Given the description of an element on the screen output the (x, y) to click on. 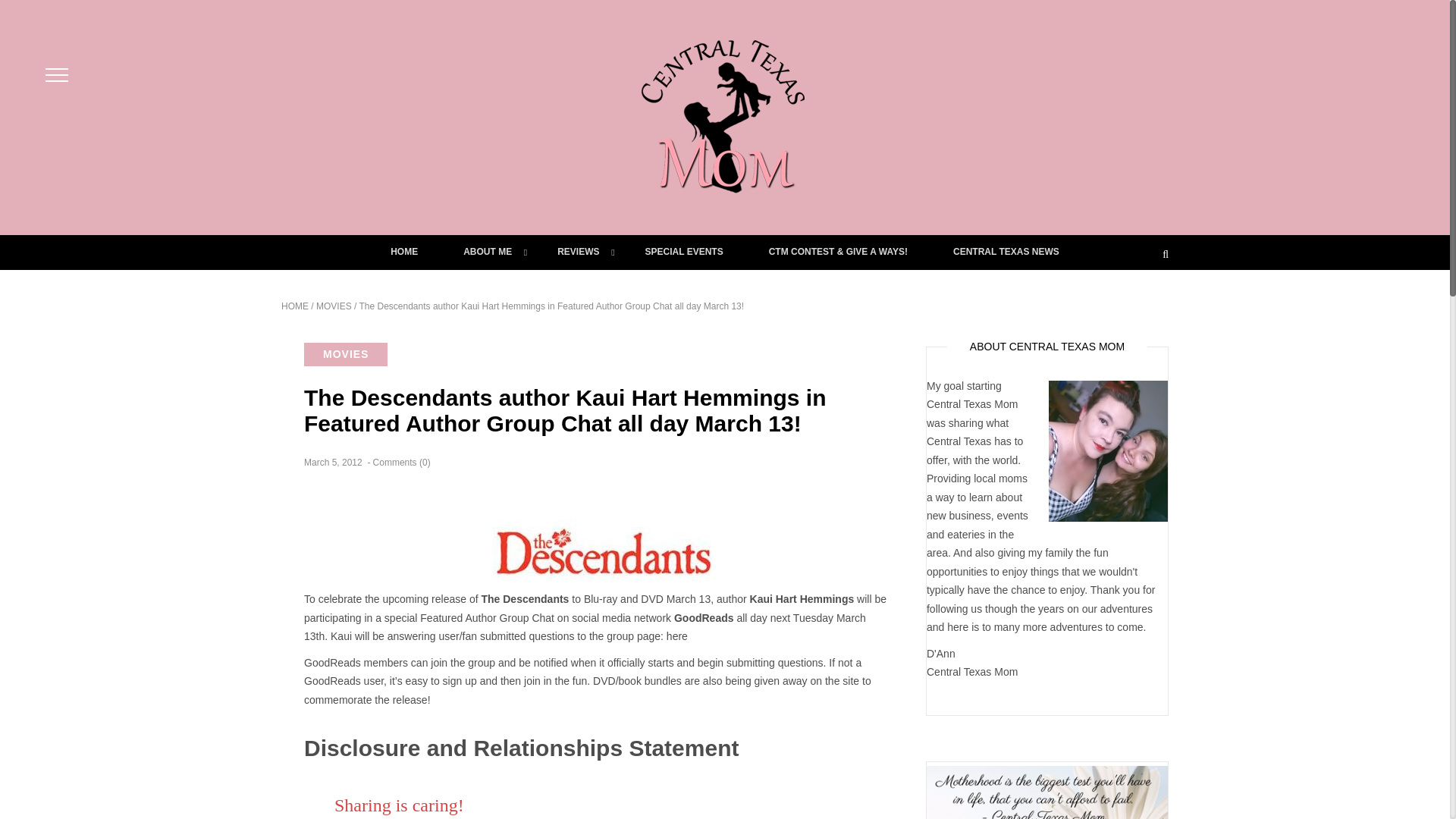
ABOUT ME (487, 252)
MOVIES (345, 354)
REVIEWS (577, 252)
MOVIES (333, 306)
TheDescendants (604, 551)
Disclosure and Relationships Statement (521, 747)
SPECIAL EVENTS (684, 252)
CENTRAL TEXAS NEWS (1005, 252)
here  (678, 635)
Disclosure and Relationships Statement (521, 747)
HOME (294, 306)
More Options (425, 817)
Facebook (362, 817)
Email This (404, 817)
HOME (404, 252)
